Given the description of an element on the screen output the (x, y) to click on. 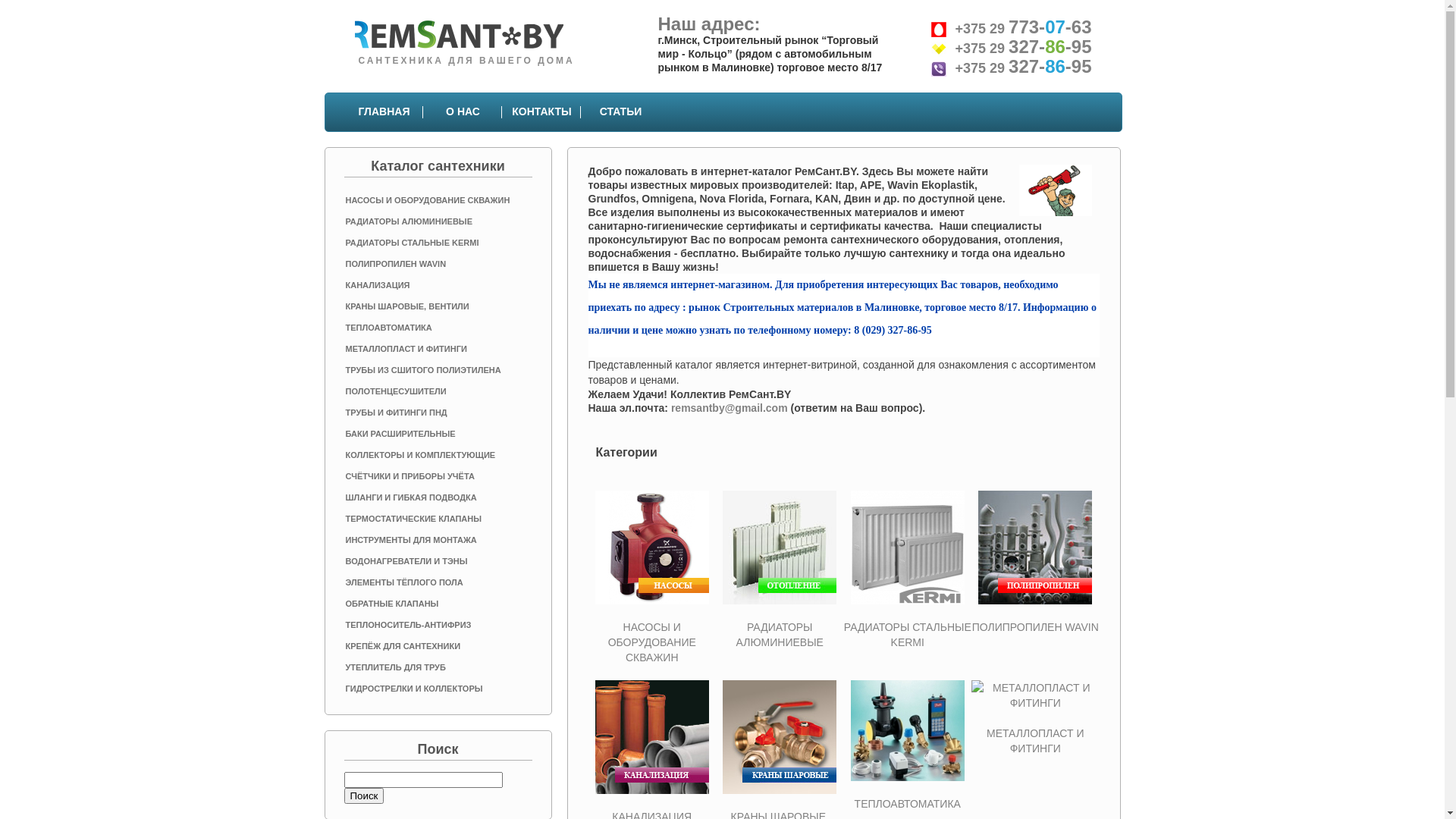
remsantby@gmail.com Element type: text (729, 407)
